Given the description of an element on the screen output the (x, y) to click on. 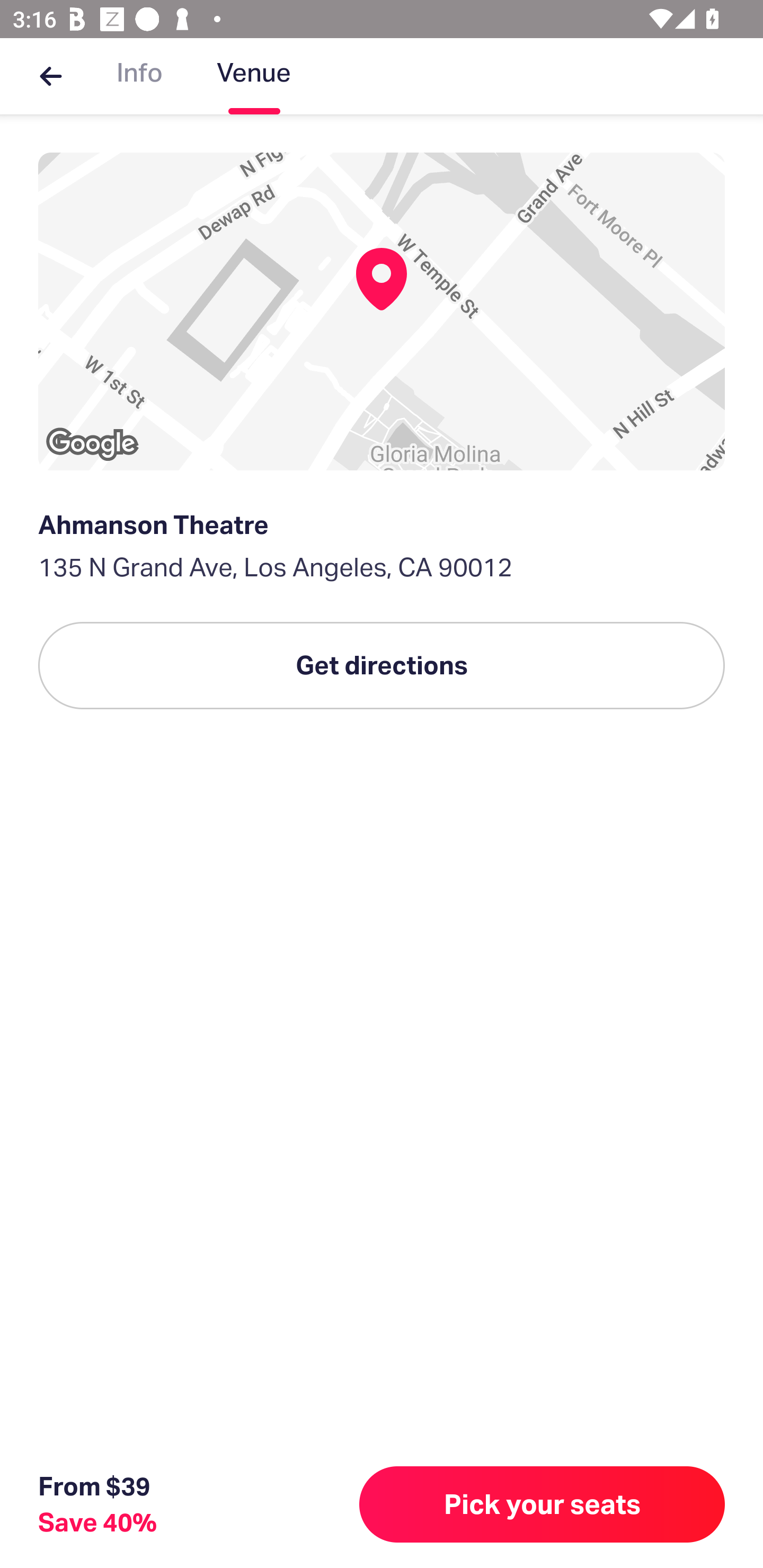
Info (139, 75)
Google Map Ahmanson Theatre.  (381, 311)
Get directions (381, 665)
Pick your seats (541, 1504)
